Given the description of an element on the screen output the (x, y) to click on. 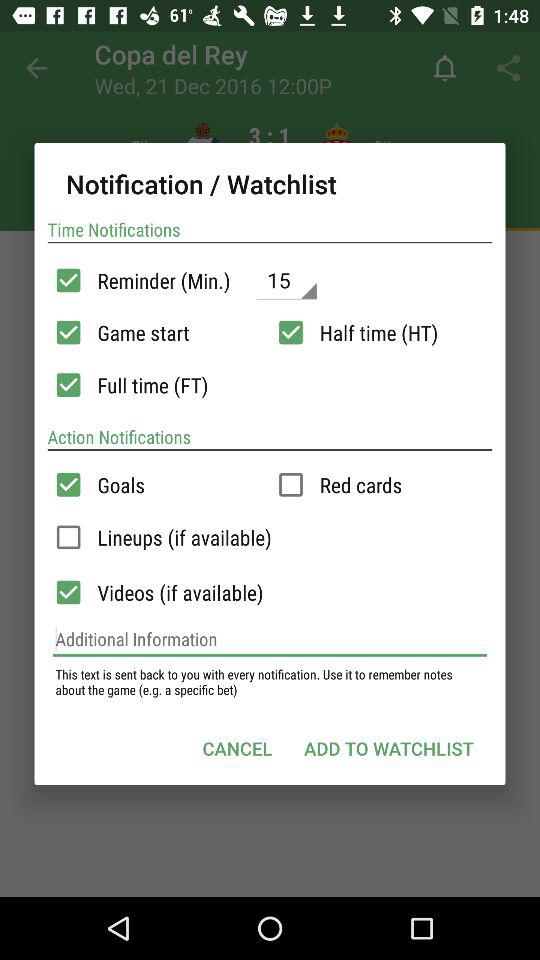
get a half time notification (290, 332)
